Given the description of an element on the screen output the (x, y) to click on. 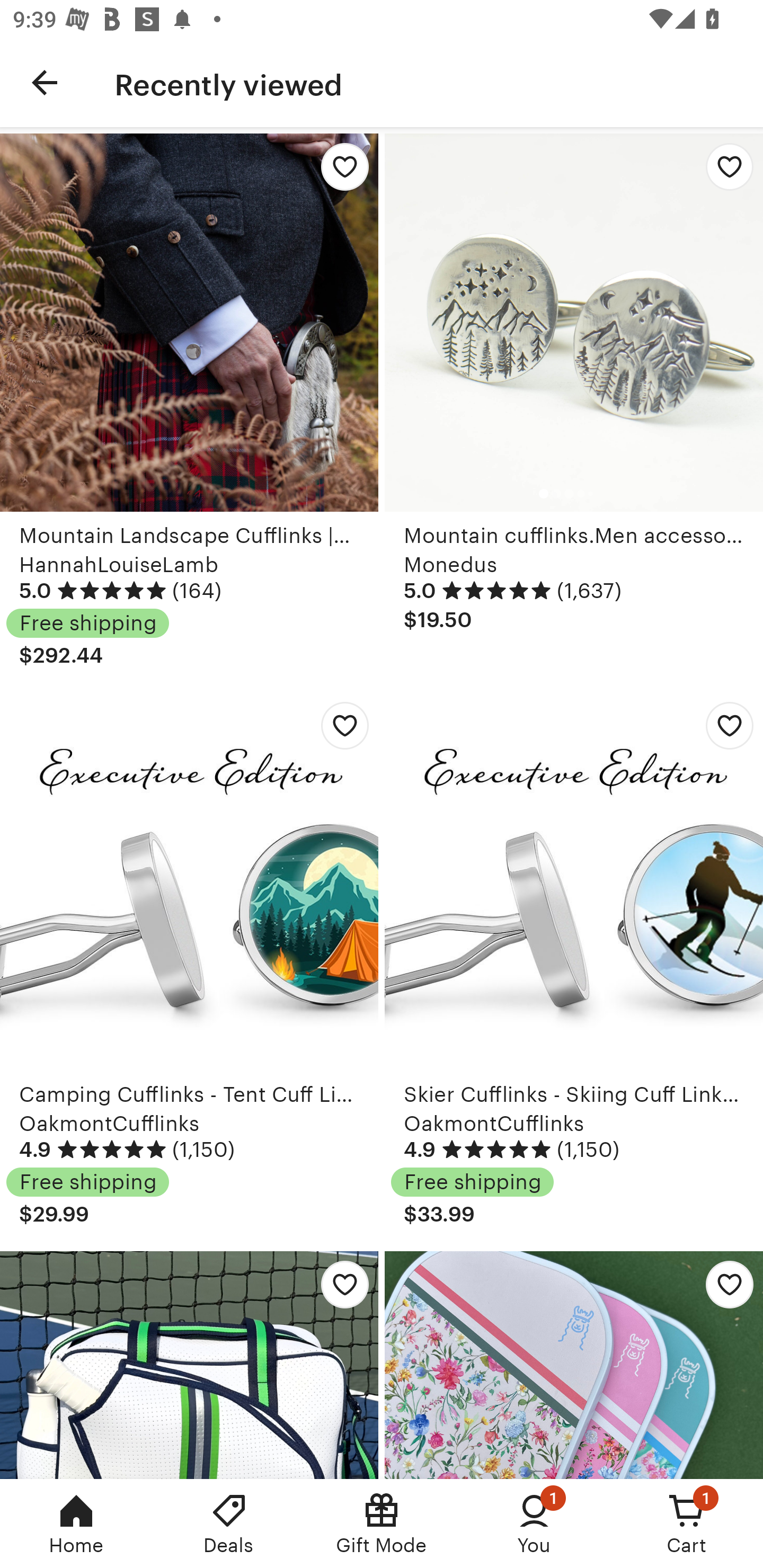
Navigate up (44, 82)
Add Flower Preppy Pickleball Paddle to favorites (724, 1289)
Deals (228, 1523)
Gift Mode (381, 1523)
You, 1 new notification You (533, 1523)
Cart, 1 new notification Cart (686, 1523)
